Given the description of an element on the screen output the (x, y) to click on. 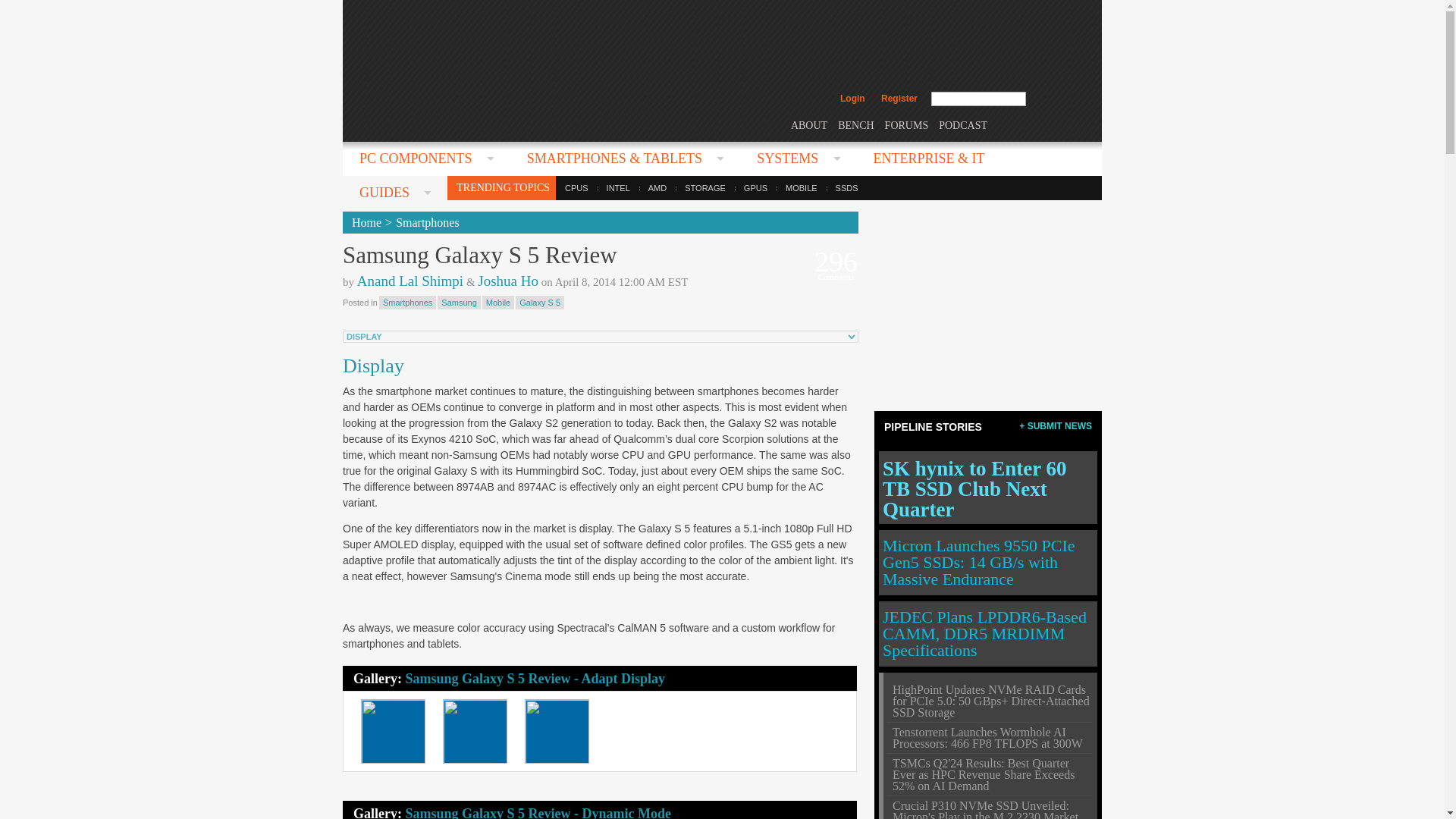
FORUMS (906, 125)
BENCH (855, 125)
search (1059, 98)
Register (898, 98)
search (1059, 98)
Login (852, 98)
ABOUT (808, 125)
PODCAST (963, 125)
search (1059, 98)
